Given the description of an element on the screen output the (x, y) to click on. 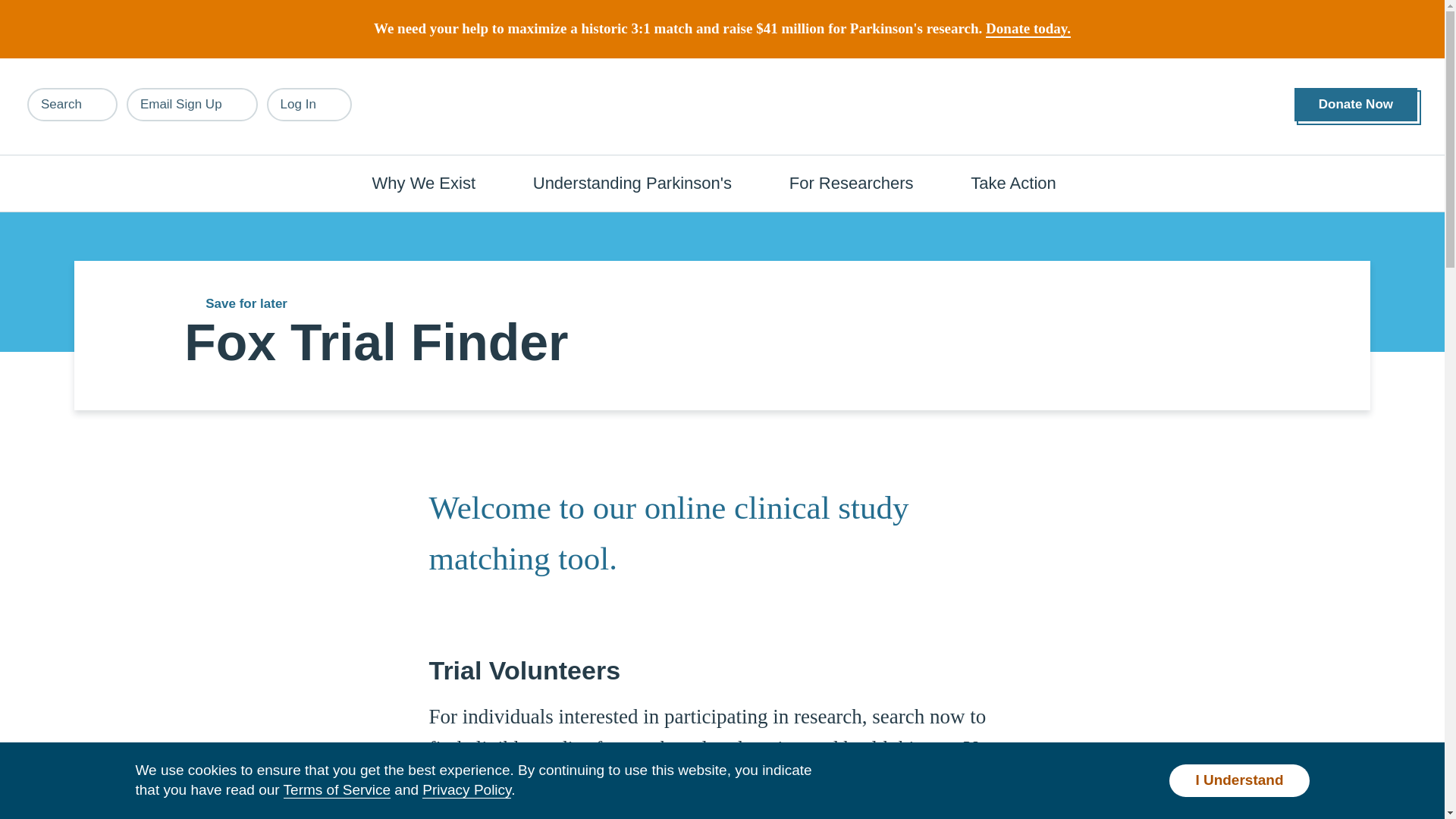
Home Page (722, 106)
Understanding Parkinson's (640, 182)
Donate Now (1355, 104)
Why We Exist (432, 182)
Search (72, 104)
Dismiss (1302, 18)
Log In (309, 104)
Email Sign Up (191, 104)
Skip to main content (96, 7)
